Given the description of an element on the screen output the (x, y) to click on. 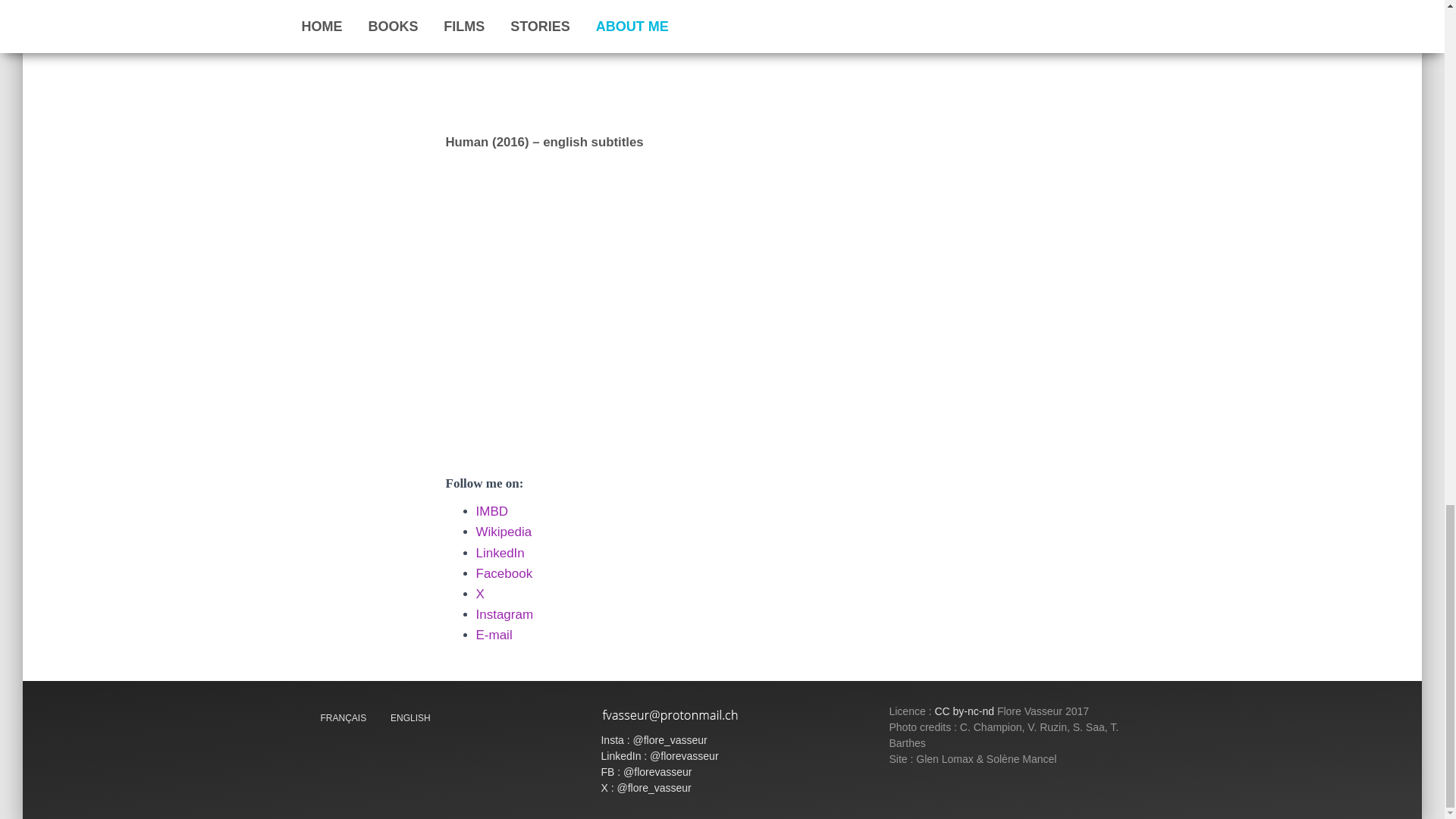
E-mail (494, 635)
IMBD (492, 511)
Wikipedia (504, 531)
LinkedIn (500, 553)
CC by-nc-nd (964, 711)
Instagram (505, 614)
Facebook (504, 573)
ENGLISH (410, 717)
